Given the description of an element on the screen output the (x, y) to click on. 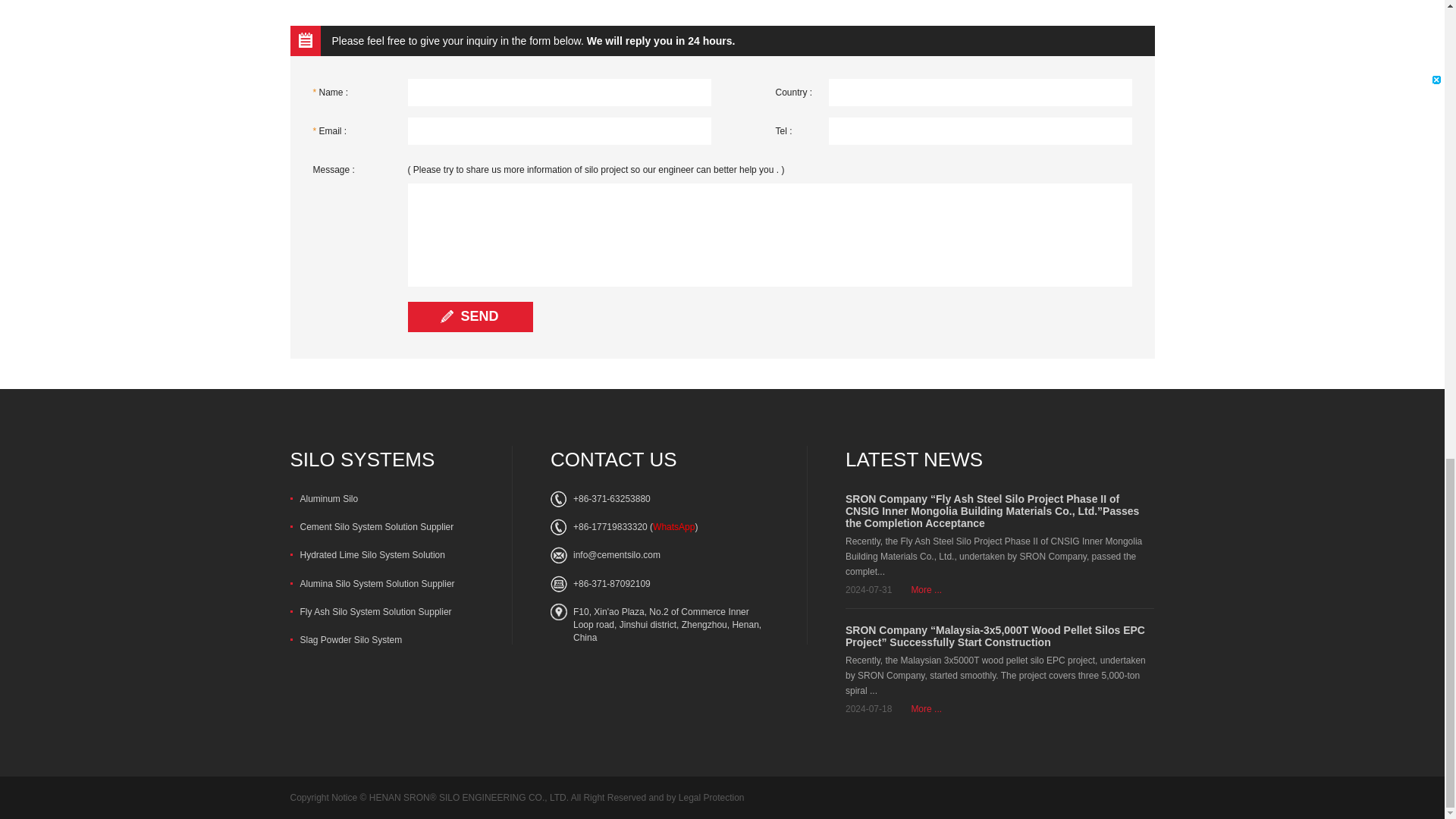
SEND (469, 317)
